Given the description of an element on the screen output the (x, y) to click on. 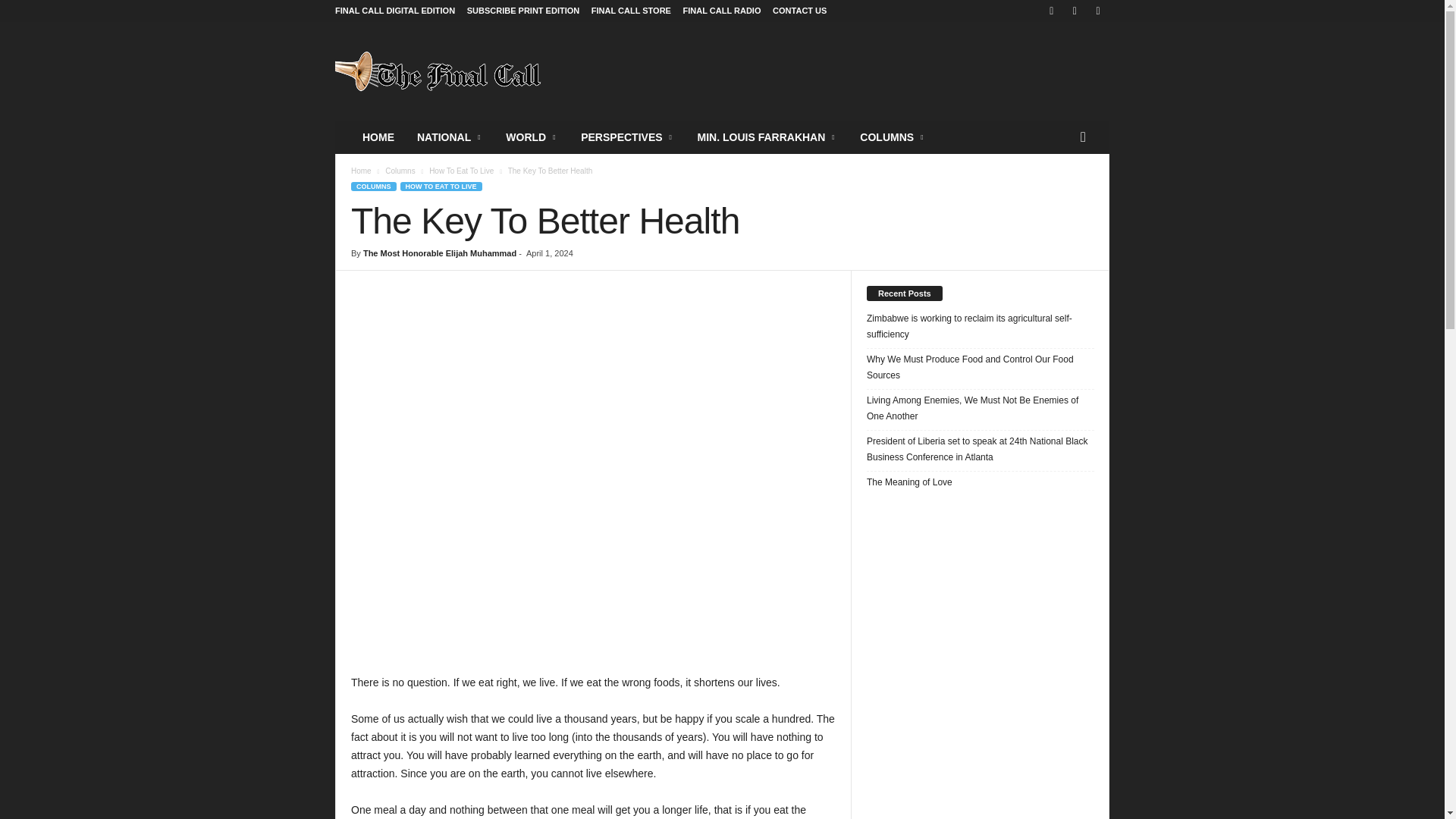
FINAL CALL RADIO (721, 10)
NATIONAL (450, 136)
CONTACT US (800, 10)
FINAL CALL DIGITAL EDITION (394, 10)
FINAL CALL STORE (631, 10)
SUBSCRIBE PRINT EDITION (523, 10)
HOME (378, 136)
Final Call News (437, 70)
